Given the description of an element on the screen output the (x, y) to click on. 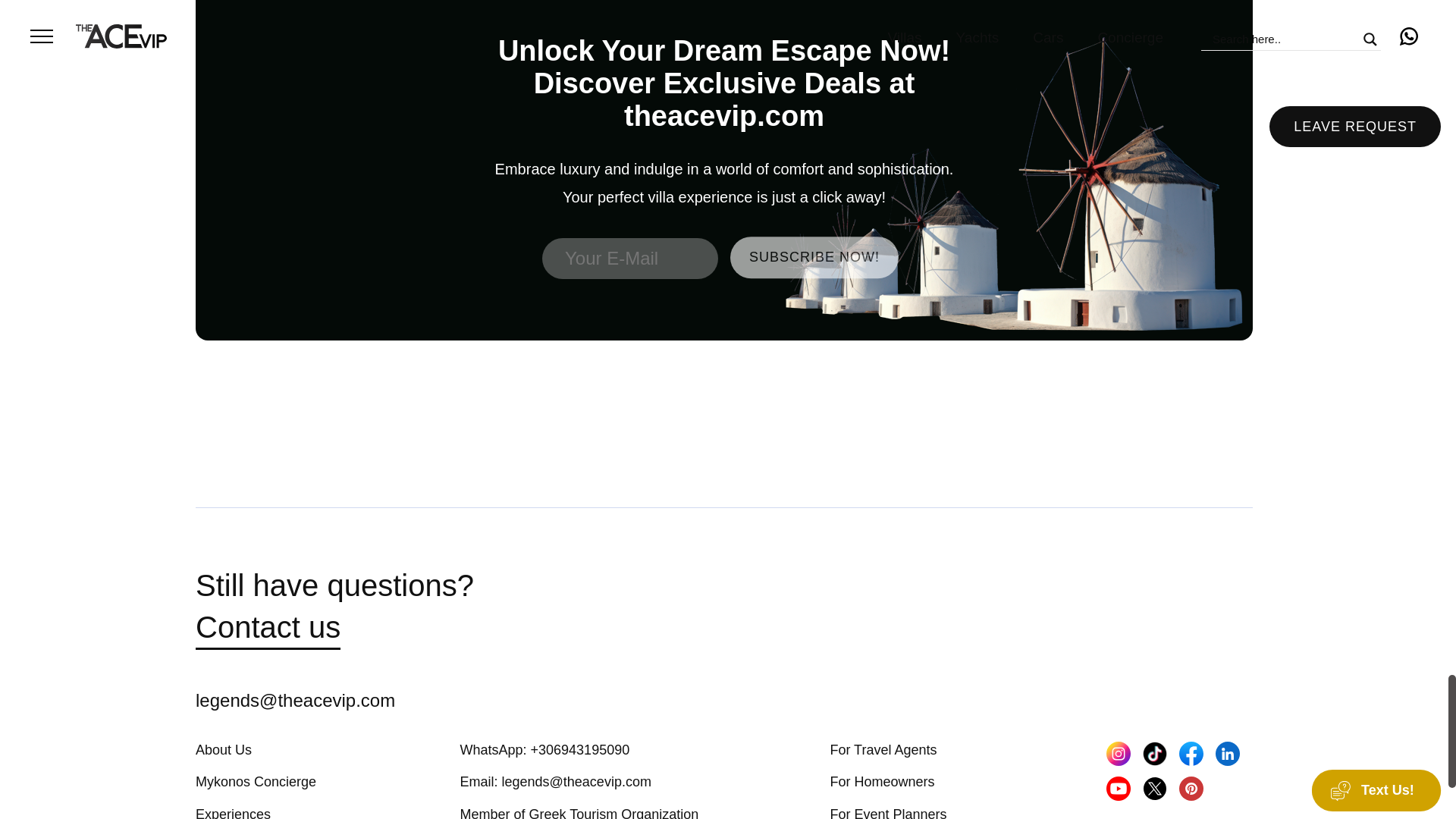
Subscribe Now! (814, 257)
